Given the description of an element on the screen output the (x, y) to click on. 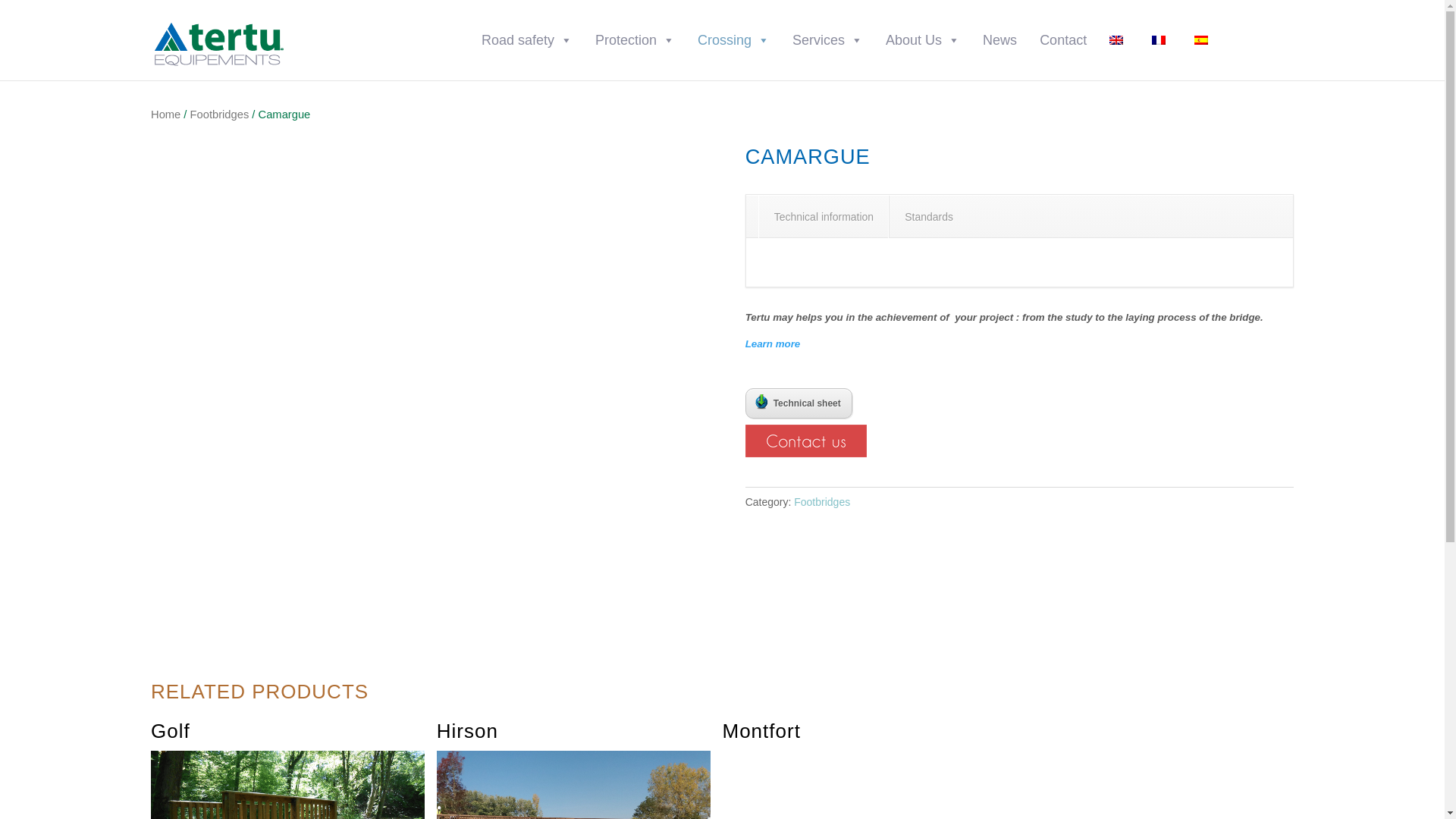
Protection (635, 40)
Road safety (526, 40)
